Given the description of an element on the screen output the (x, y) to click on. 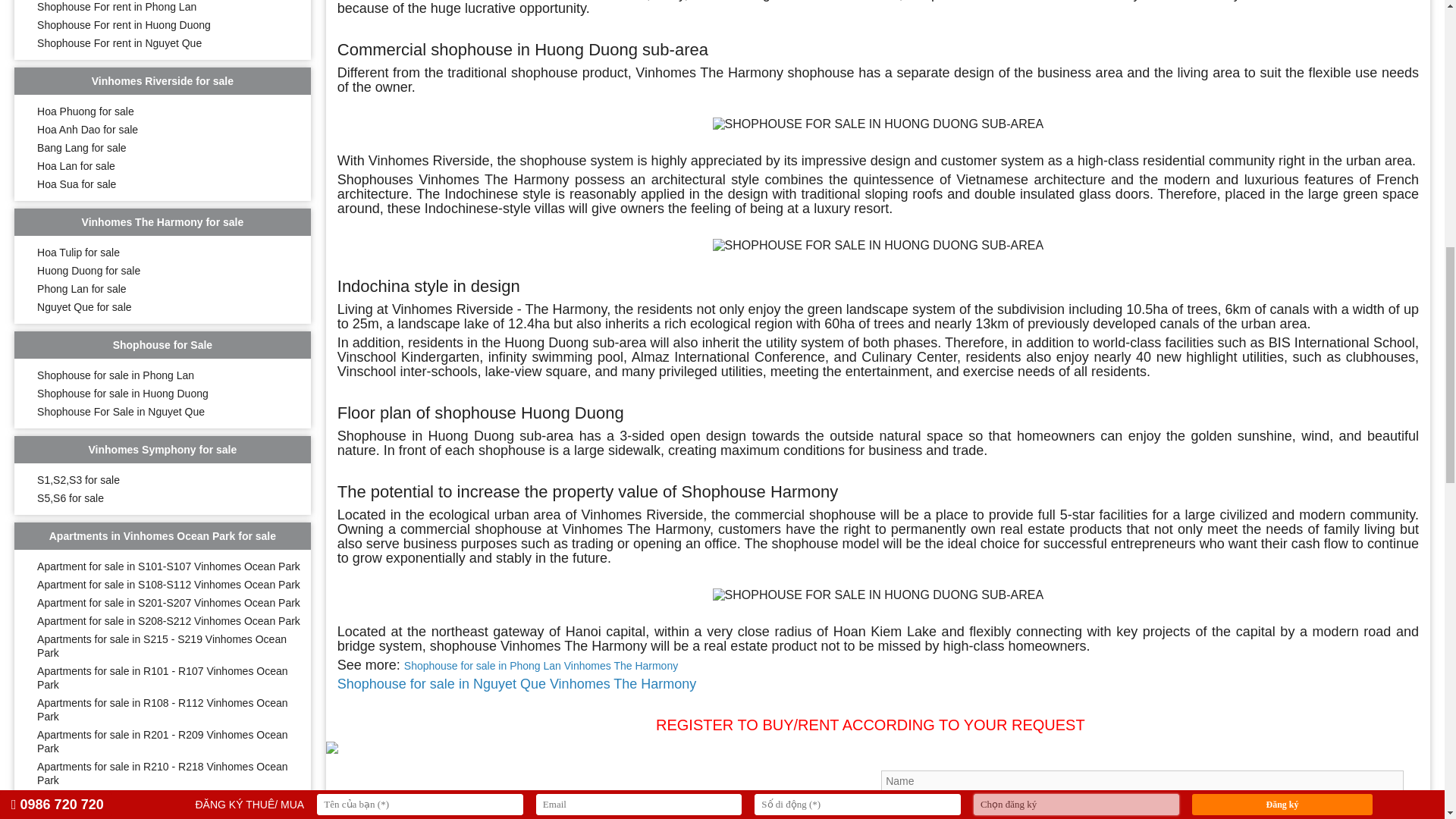
Shophouse for sale in Nguyet Que Vinhomes The Harmony (517, 684)
Shophouse for sale in Phong Lan Vinhomes The Harmony (541, 665)
Shophouse For rent in Phong Lan (116, 6)
